Given the description of an element on the screen output the (x, y) to click on. 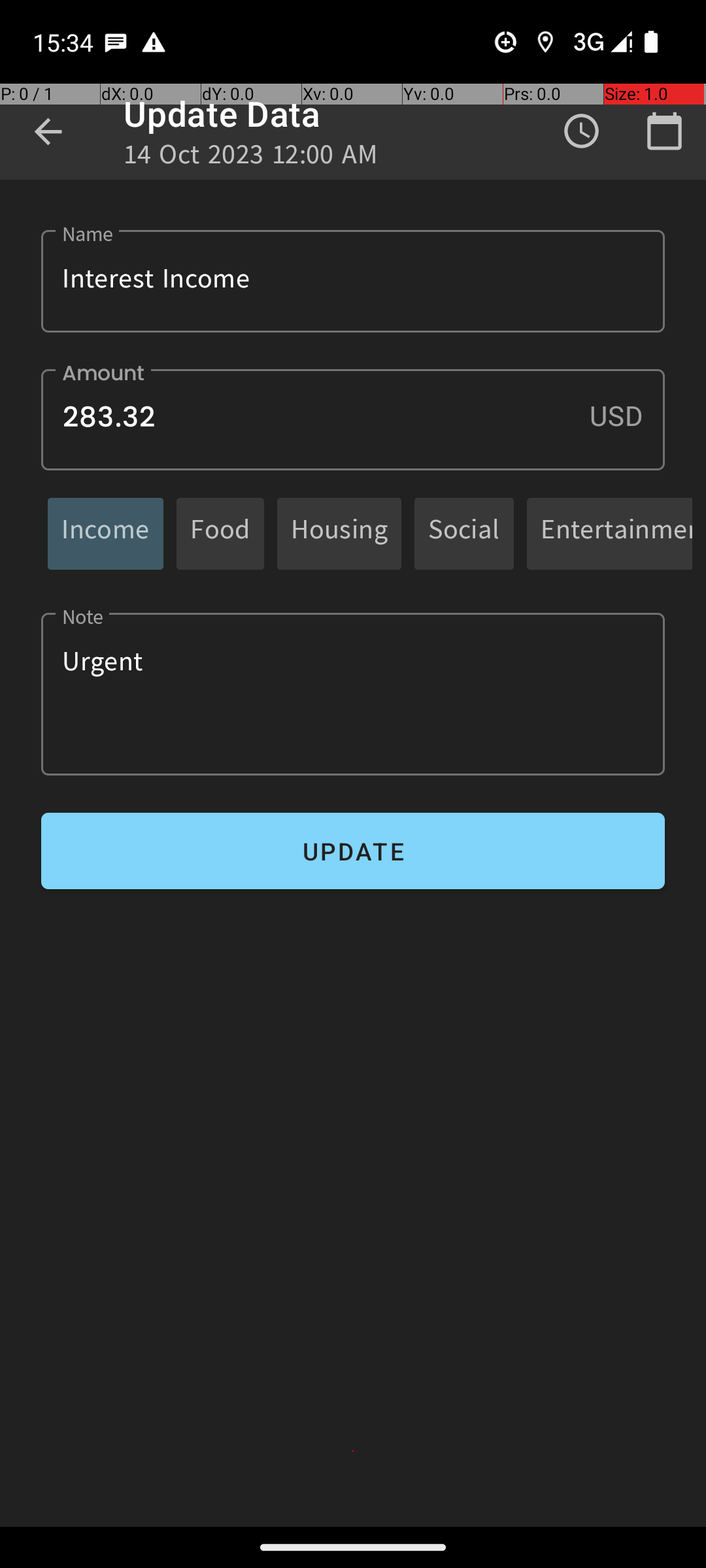
14 Oct 2023 12:00 AM Element type: android.widget.TextView (250, 157)
Interest Income Element type: android.widget.EditText (352, 280)
283.32 Element type: android.widget.EditText (352, 419)
Urgent Element type: android.widget.EditText (352, 693)
